Given the description of an element on the screen output the (x, y) to click on. 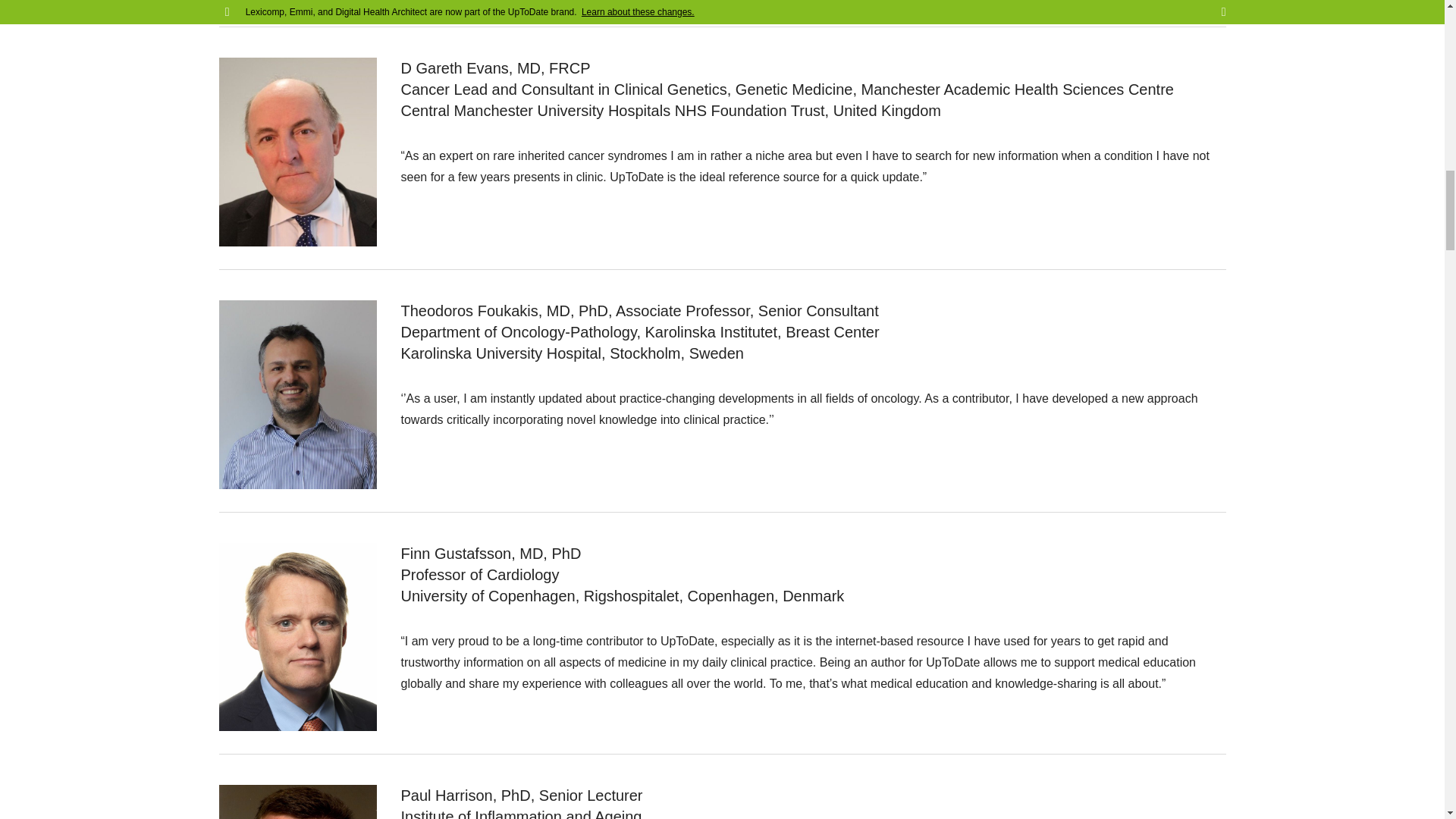
image-author-harrison (296, 801)
image-author-crea (296, 2)
